Given the description of an element on the screen output the (x, y) to click on. 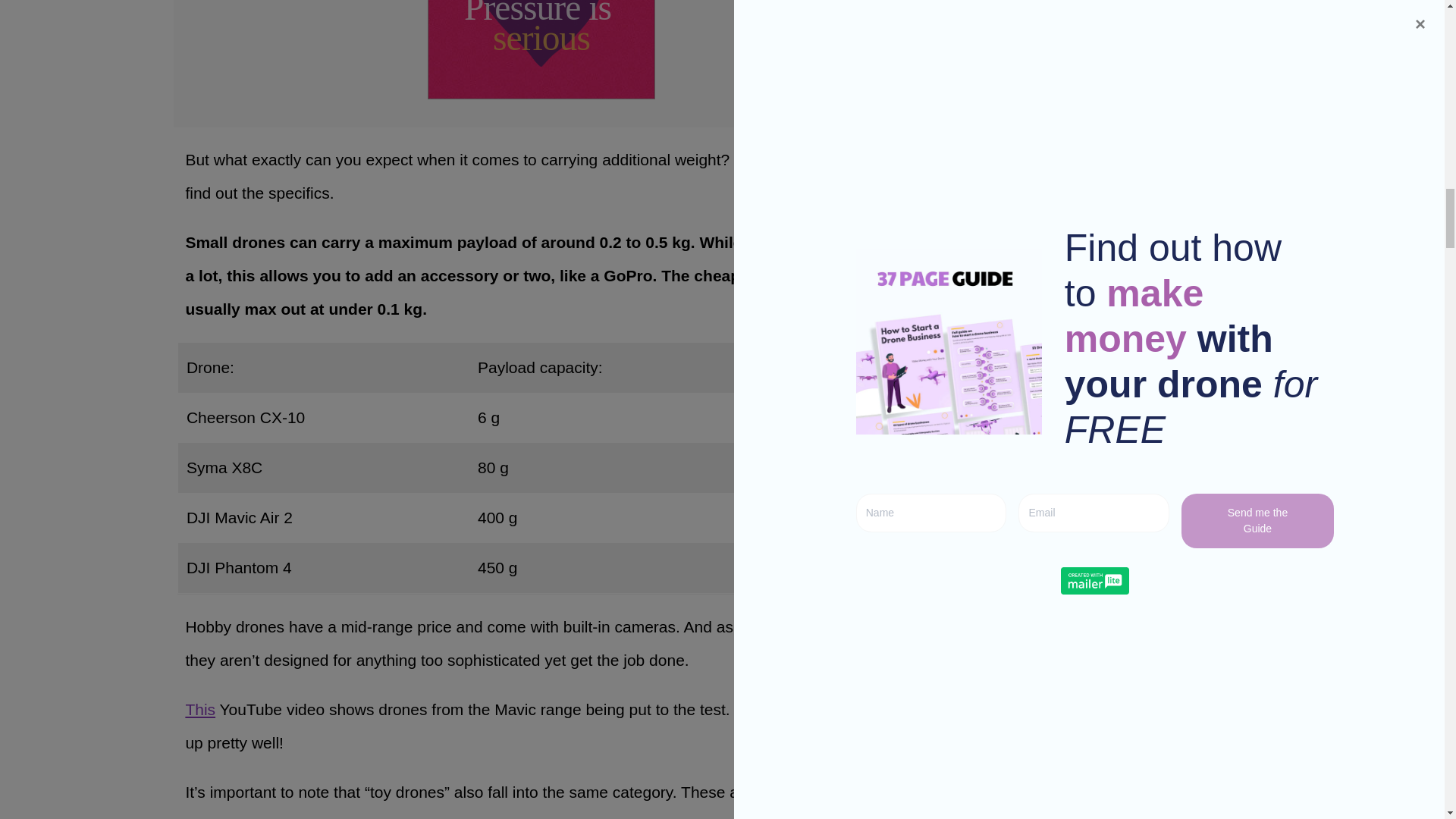
3rd party ad content (541, 49)
